Given the description of an element on the screen output the (x, y) to click on. 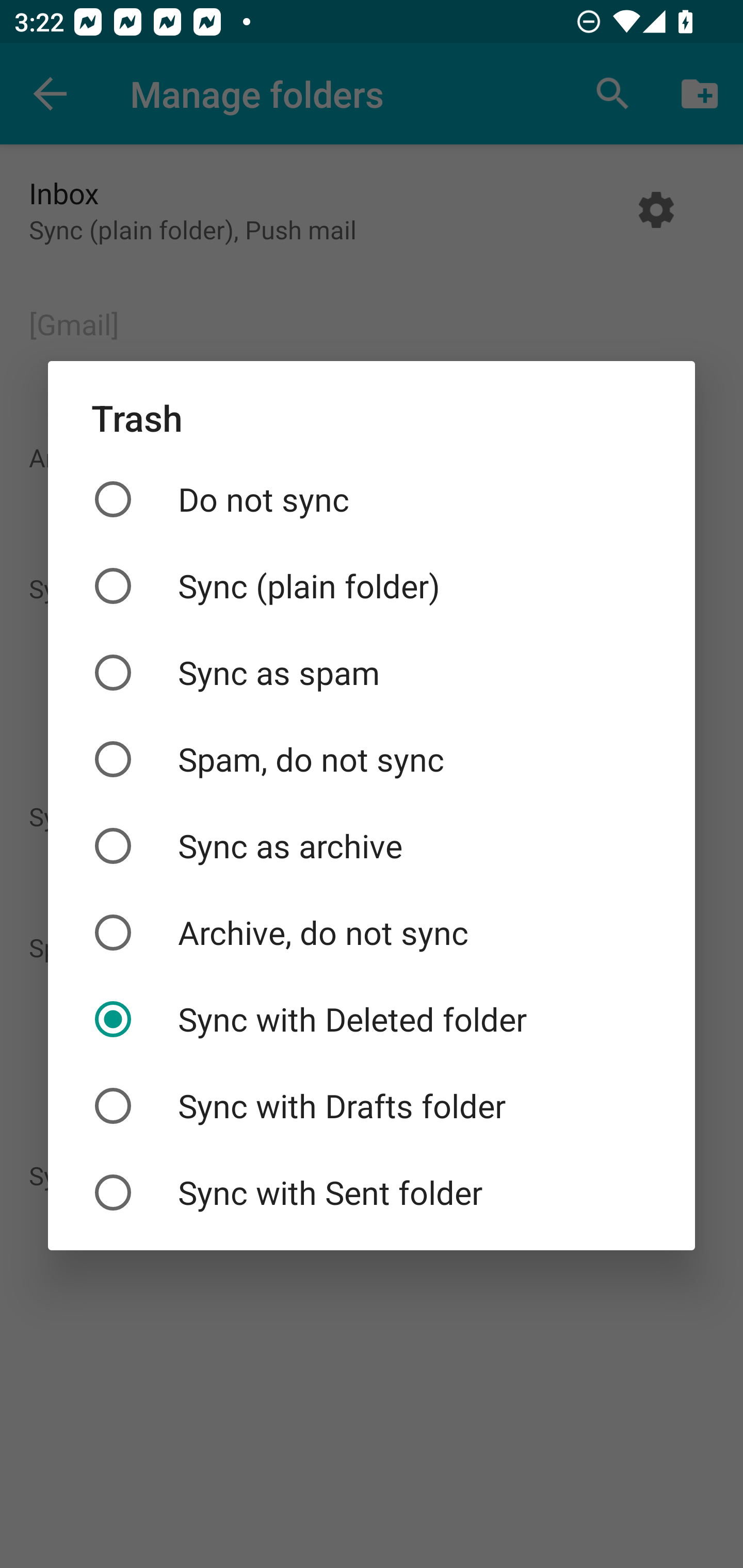
Do not sync (371, 499)
Sync (plain folder) (371, 585)
Sync as spam (371, 672)
Spam, do not sync (371, 759)
Sync as archive (371, 845)
Archive, do not sync (371, 932)
Sync with Deleted folder (371, 1019)
Sync with Drafts folder (371, 1106)
Sync with Sent folder (371, 1192)
